Given the description of an element on the screen output the (x, y) to click on. 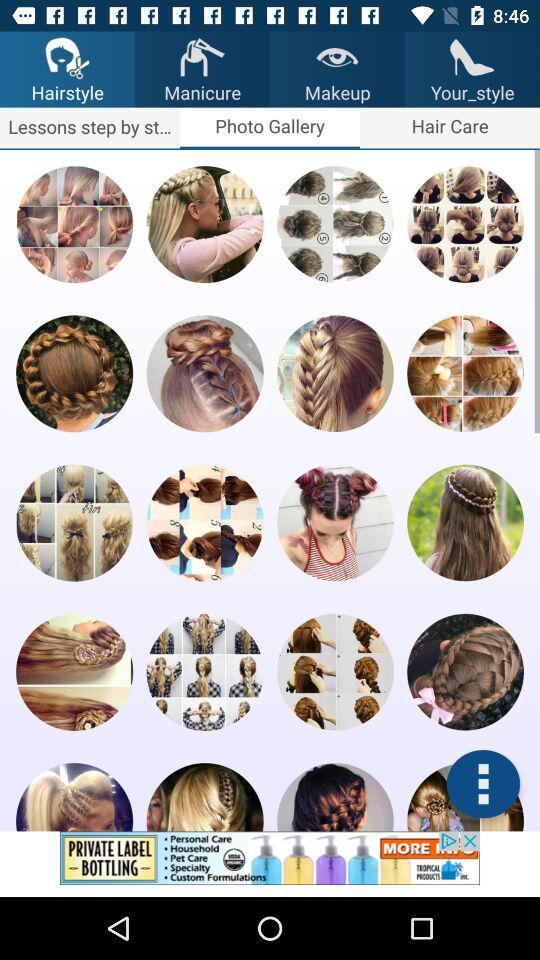
select an hairstyle (335, 224)
